Given the description of an element on the screen output the (x, y) to click on. 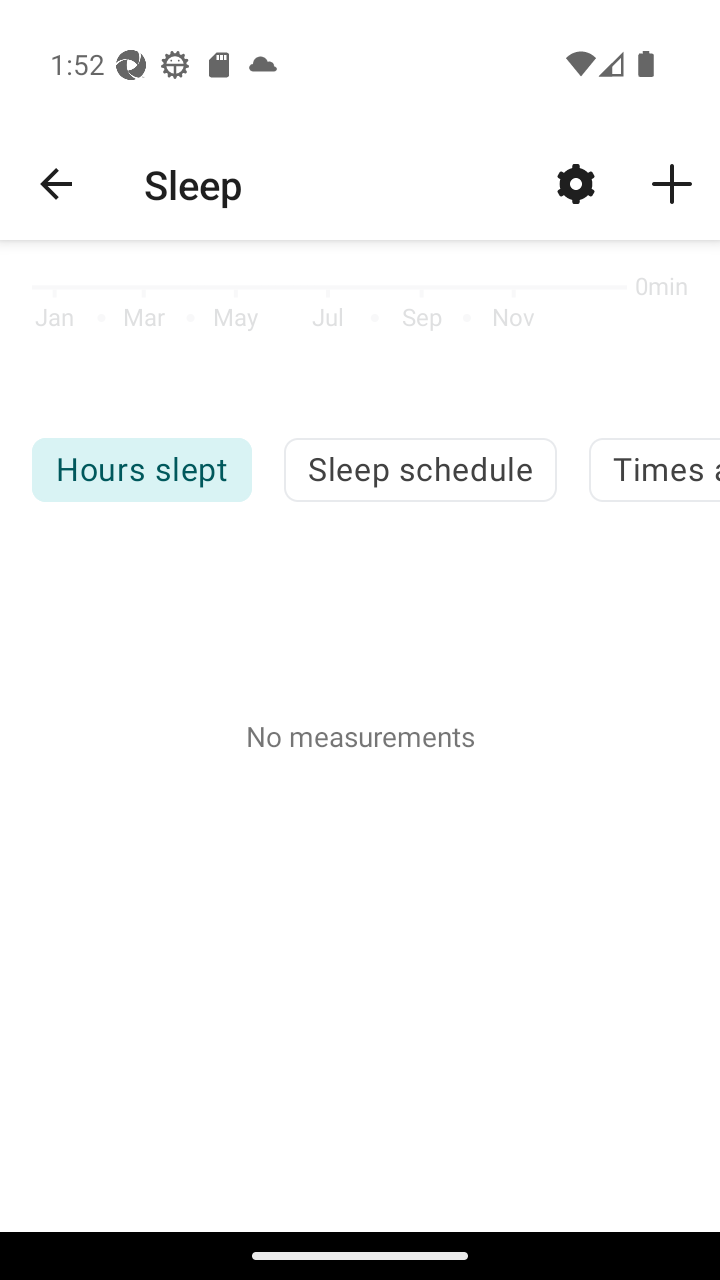
Navigate up (56, 184)
Adjust your goal (575, 183)
Tap to track sleep or
 log a past record (672, 183)
Hours slept (141, 470)
Sleep schedule (420, 470)
Times awakened (654, 470)
